Given the description of an element on the screen output the (x, y) to click on. 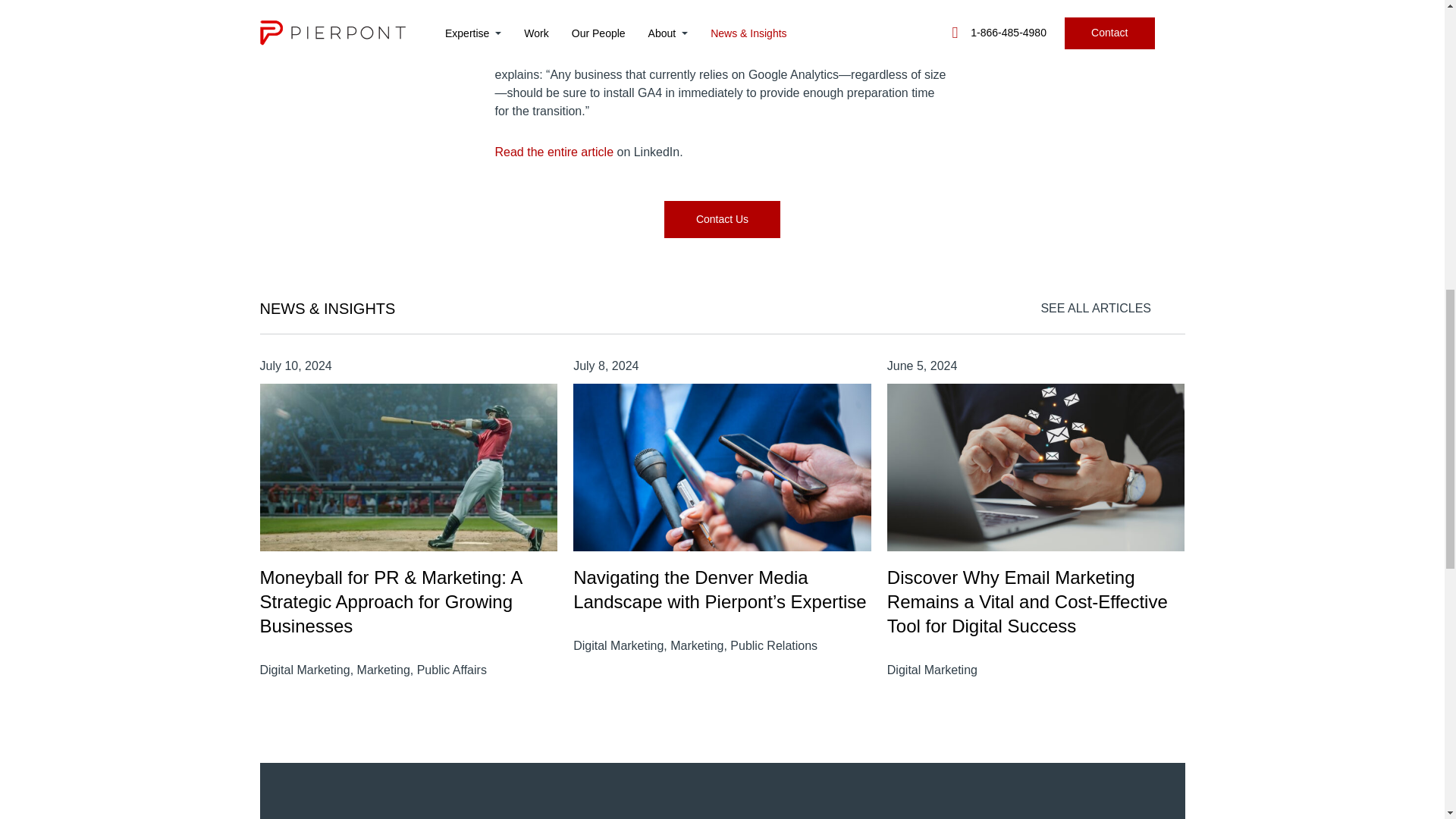
Moneyball-for-PR (408, 467)
Hand of businessman using smartphone with e-mail icon. (1035, 467)
Denver-Media-Landscape (721, 467)
